Given the description of an element on the screen output the (x, y) to click on. 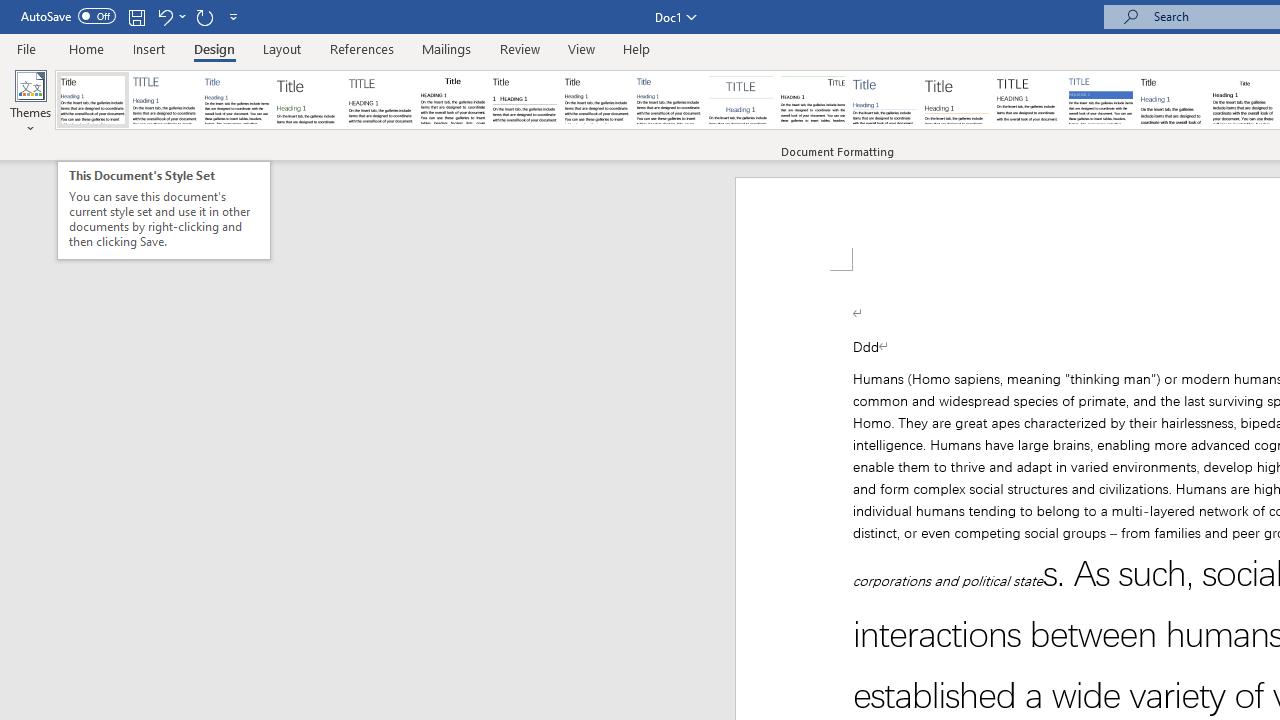
Black & White (Numbered) (524, 100)
Lines (Distinctive) (812, 100)
Lines (Stylish) (957, 100)
Undo Apply Quick Style Set (170, 15)
Themes (30, 102)
Lines (Simple) (884, 100)
Centered (740, 100)
